Given the description of an element on the screen output the (x, y) to click on. 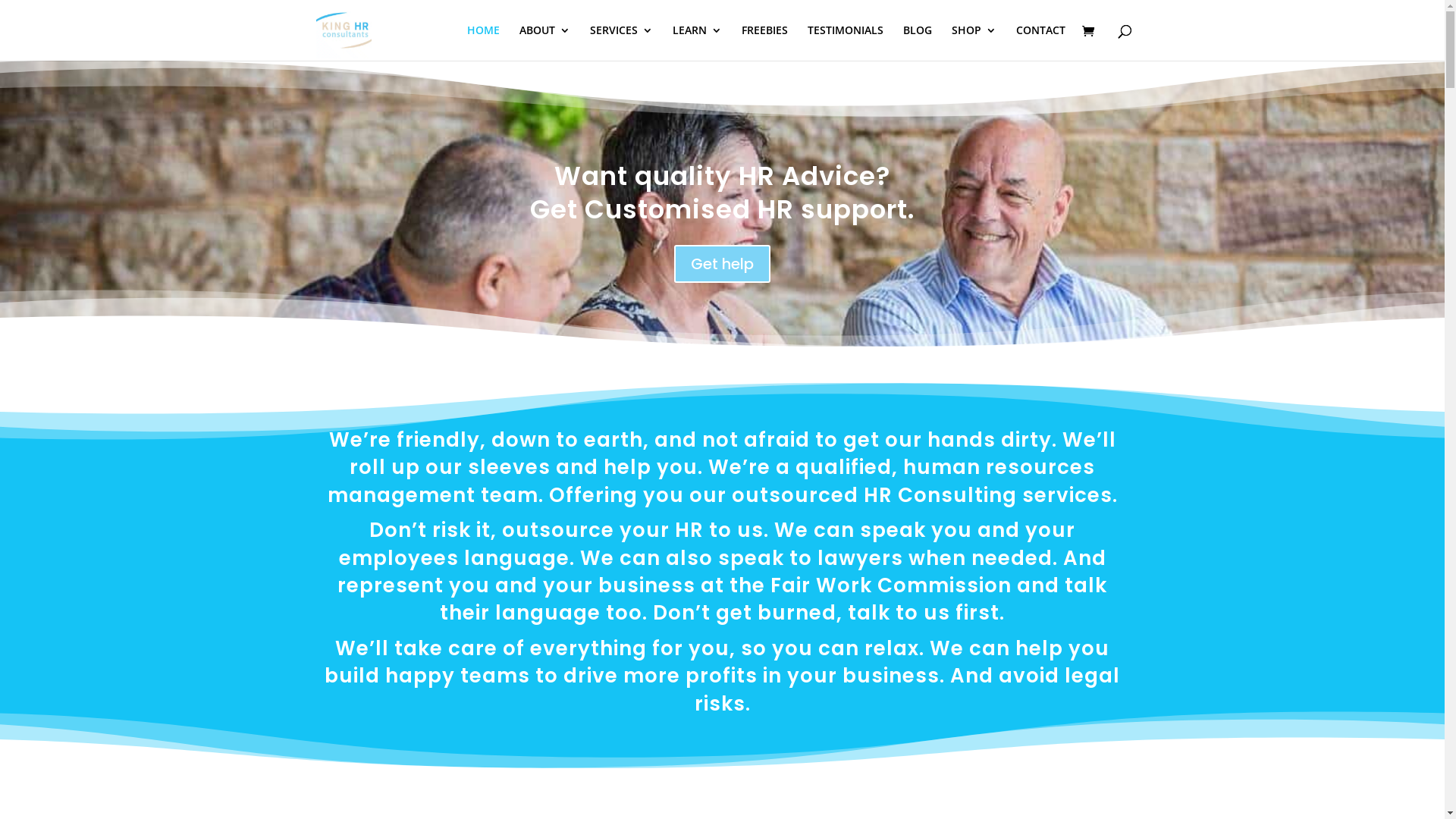
LEARN Element type: text (696, 42)
SHOP Element type: text (972, 42)
CONTACT Element type: text (1040, 42)
SERVICES Element type: text (620, 42)
FREEBIES Element type: text (764, 42)
BLOG Element type: text (916, 42)
Get help Element type: text (722, 263)
TESTIMONIALS Element type: text (844, 42)
ABOUT Element type: text (543, 42)
HOME Element type: text (483, 42)
